Given the description of an element on the screen output the (x, y) to click on. 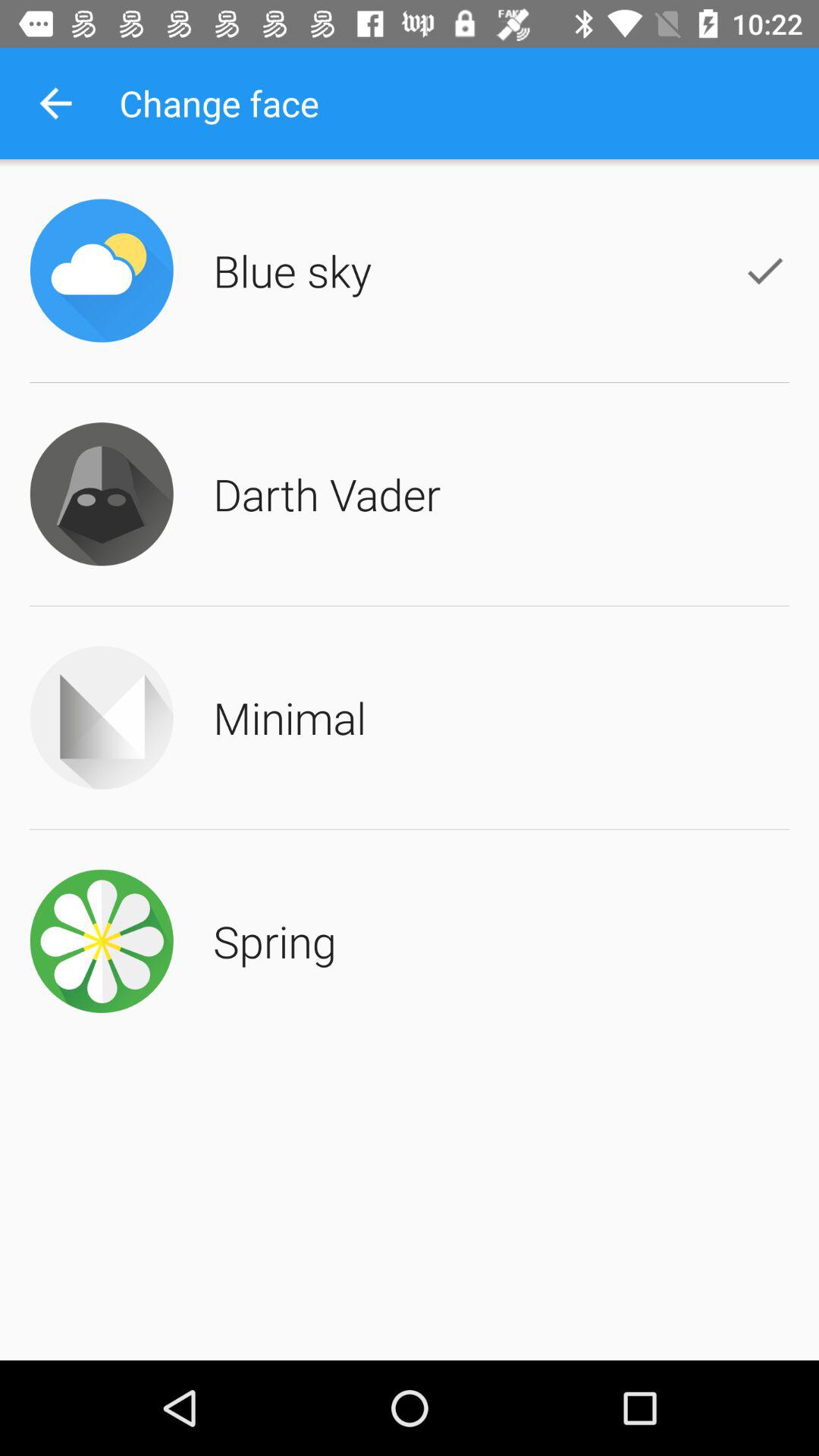
swipe until the spring icon (274, 940)
